Given the description of an element on the screen output the (x, y) to click on. 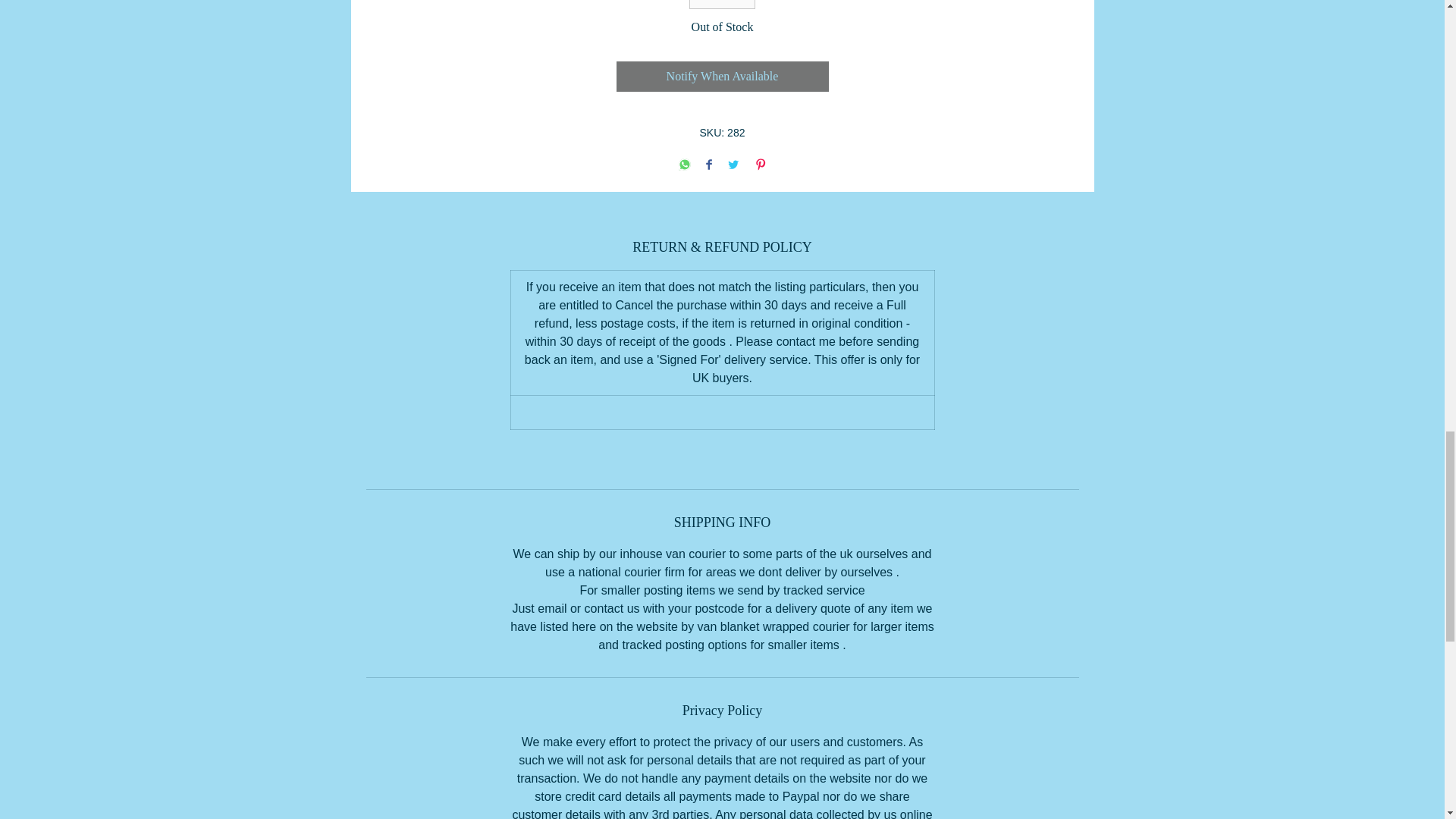
Notify When Available (721, 76)
1 (721, 4)
